Given the description of an element on the screen output the (x, y) to click on. 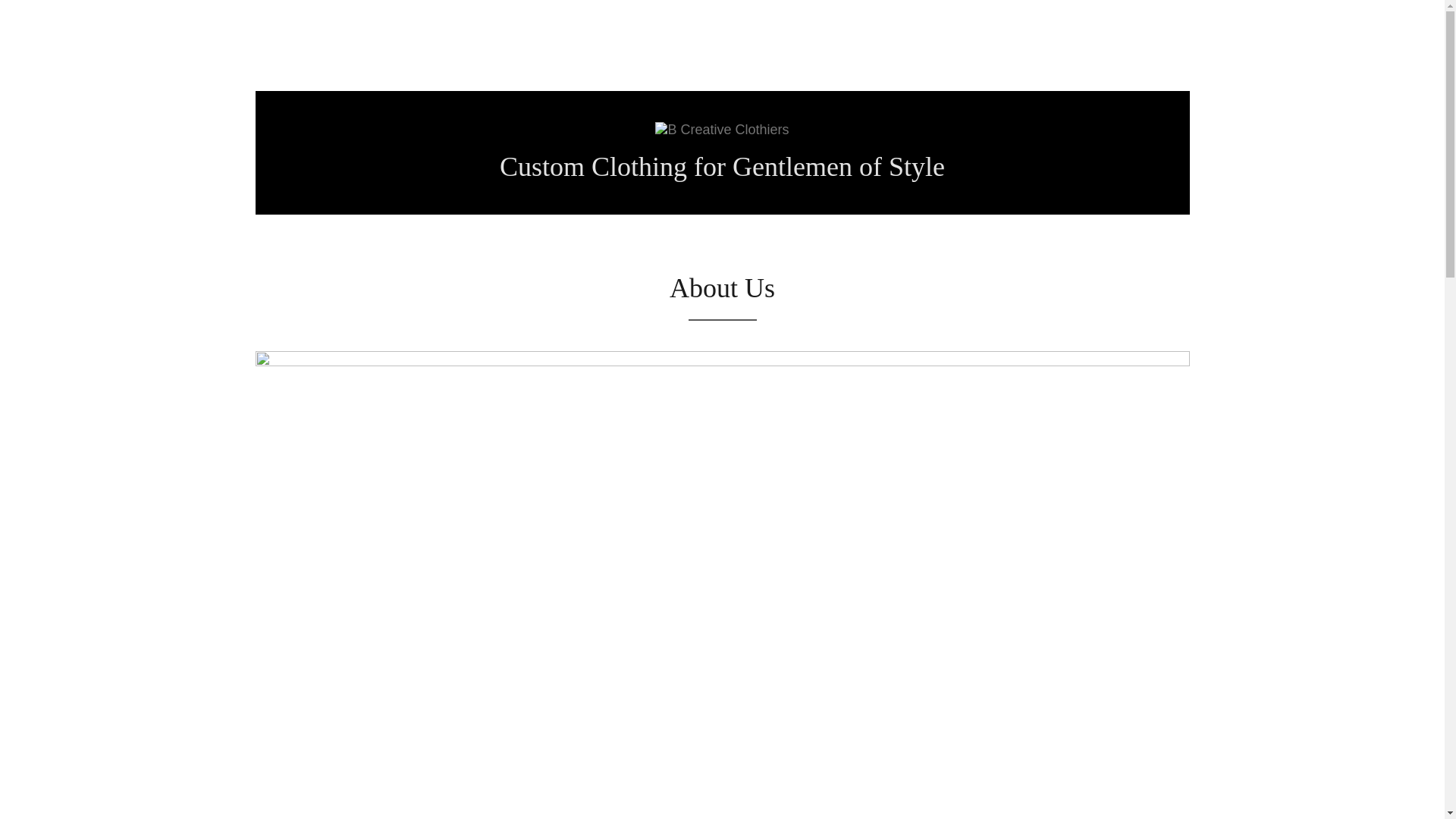
B Creative Clothiers (722, 128)
